Given the description of an element on the screen output the (x, y) to click on. 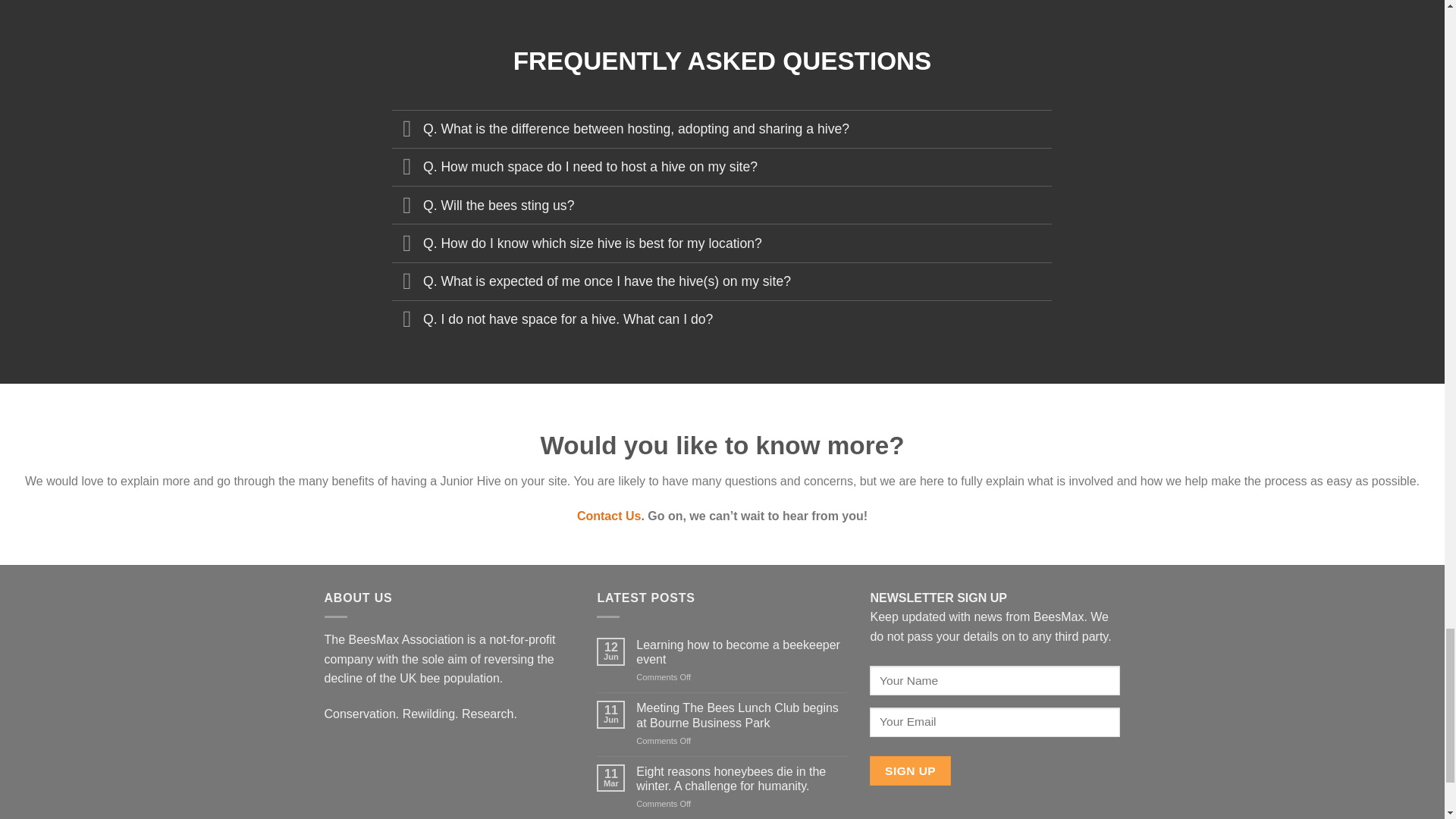
Sign Up (909, 770)
Learning how to become a beekeeper event (741, 652)
Meeting The Bees Lunch Club begins at Bourne Business Park (741, 715)
